Given the description of an element on the screen output the (x, y) to click on. 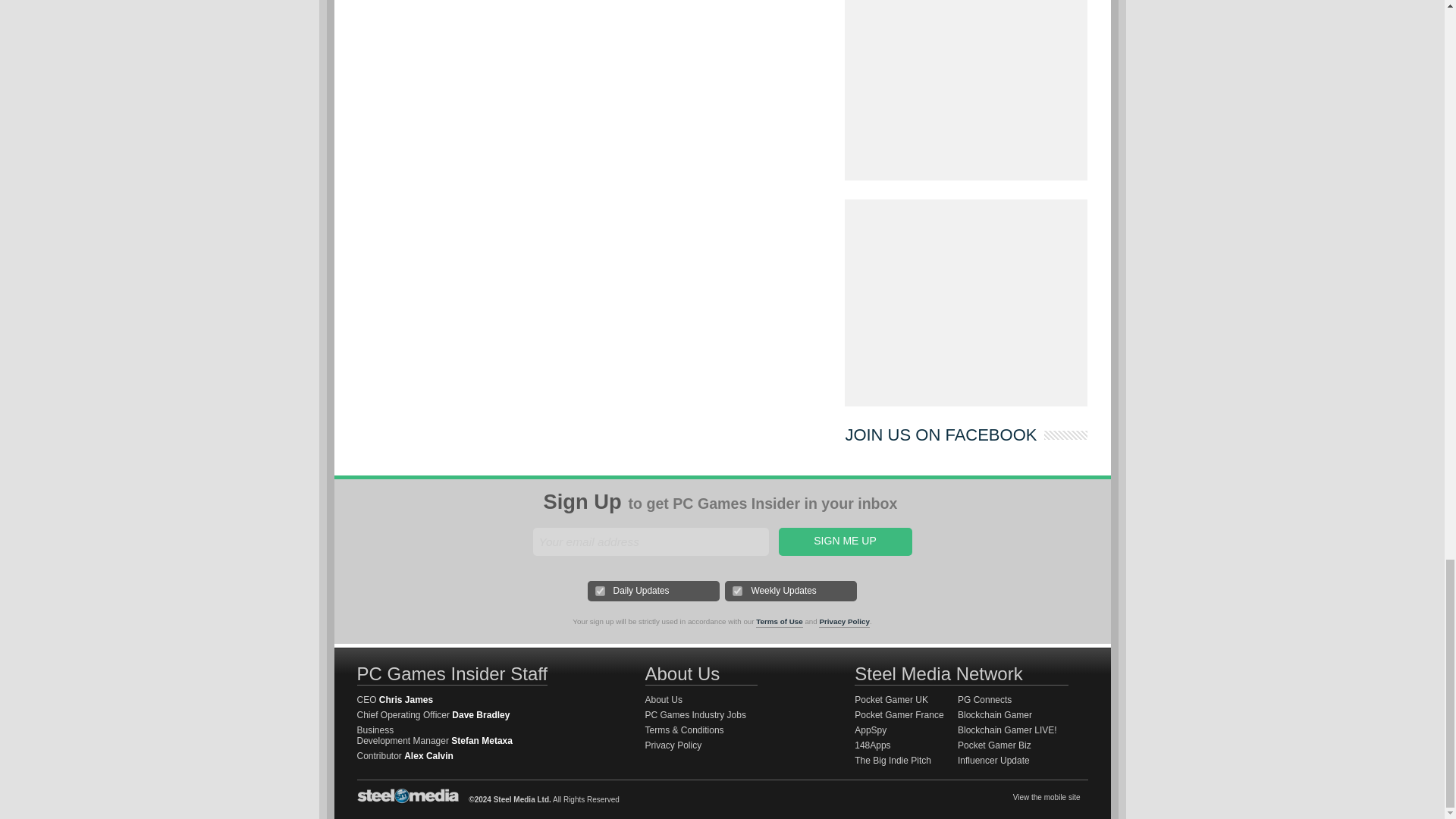
2 (737, 591)
SIGN ME UP (844, 541)
1 (600, 591)
